Given the description of an element on the screen output the (x, y) to click on. 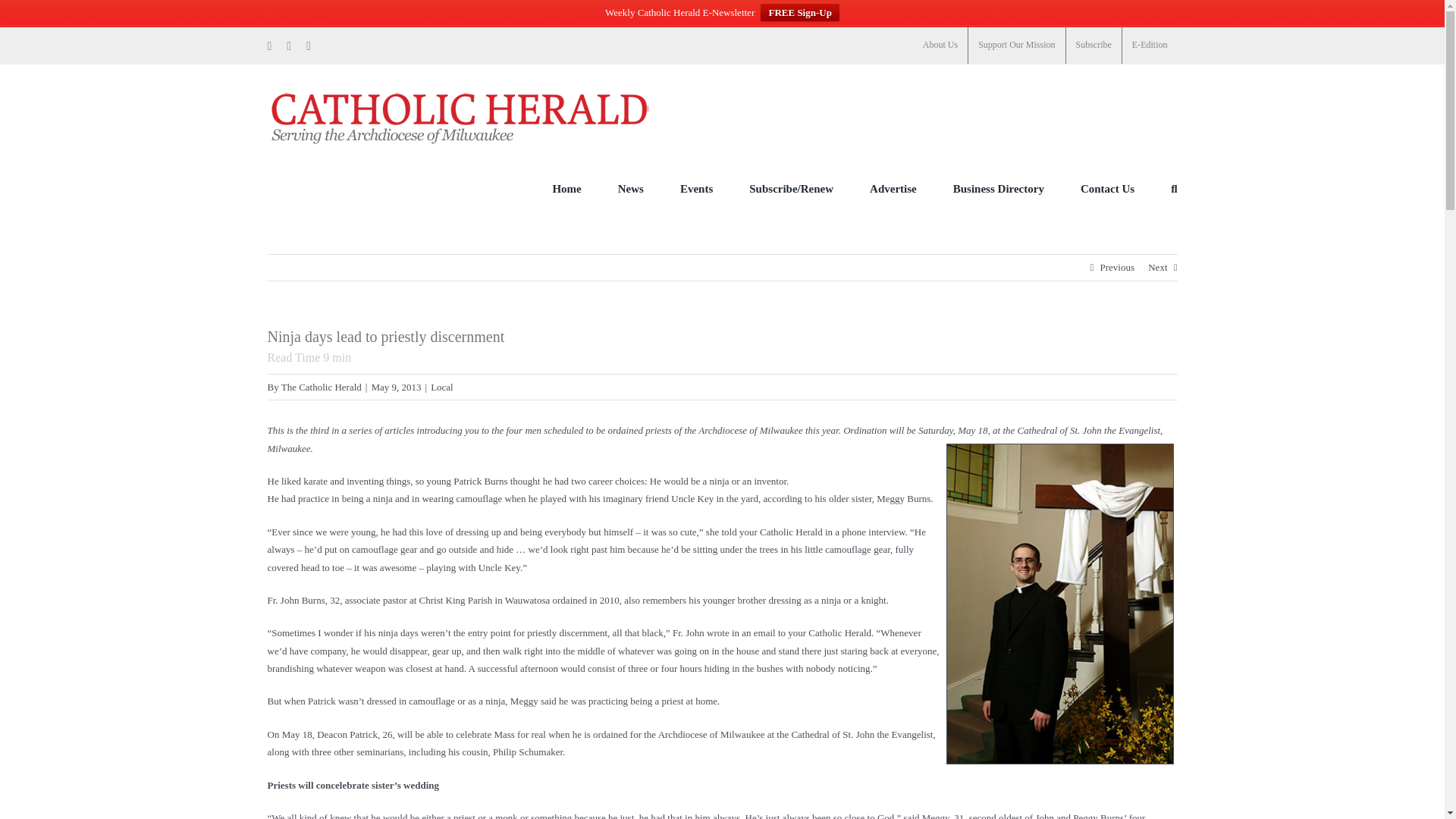
Support Our Mission (1016, 45)
Business Directory (998, 188)
About Us (940, 45)
E-Edition (1149, 45)
Contact Us (1107, 188)
Posts by The Catholic Herald (321, 387)
Subscribe (1093, 45)
FREE Sign-Up (799, 12)
Advertise (893, 188)
